Given the description of an element on the screen output the (x, y) to click on. 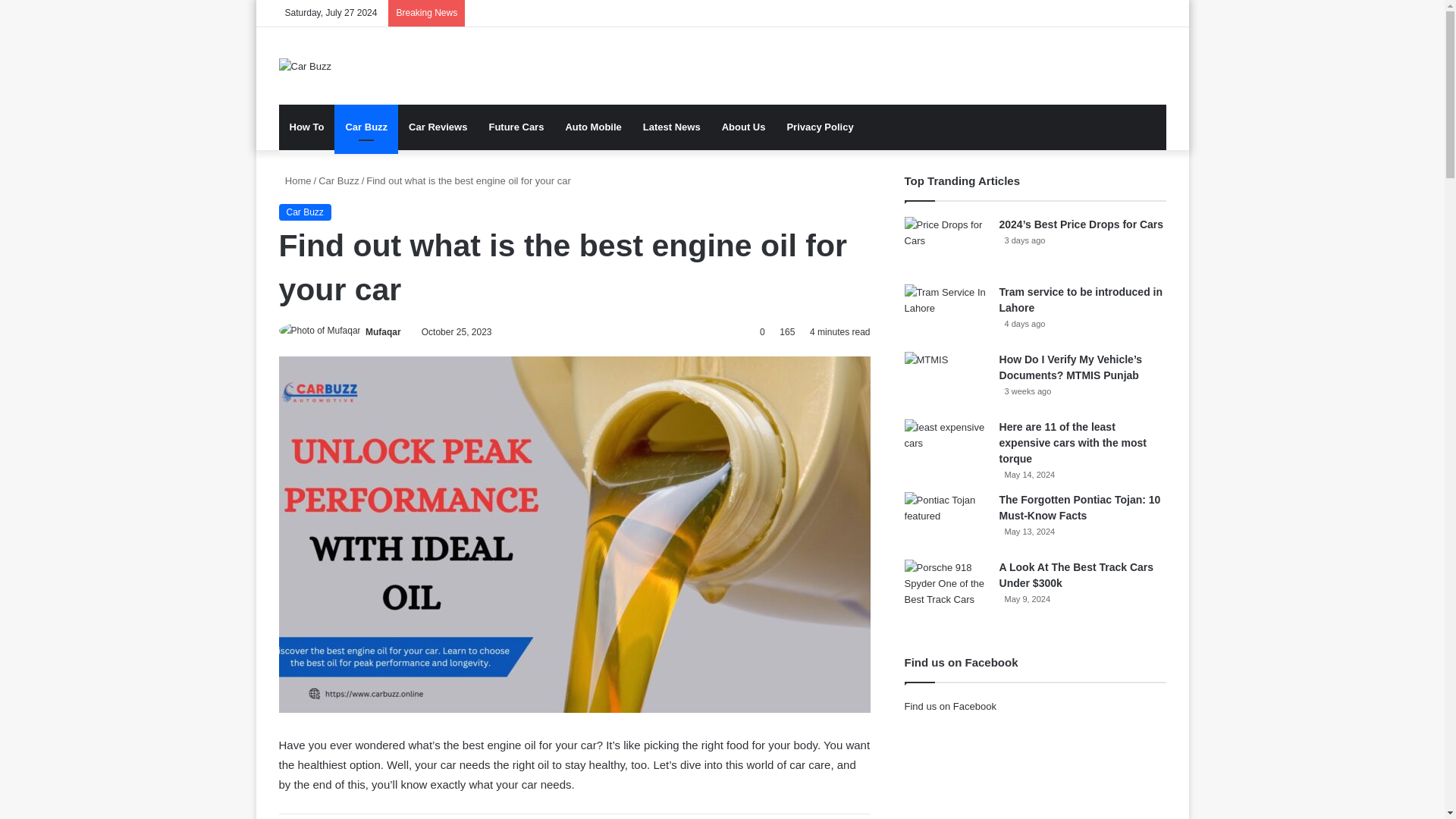
Future Cars (515, 126)
Log In (1109, 13)
Search for (1154, 126)
Car Buzz (305, 65)
How To (306, 126)
Mufaqar (383, 331)
Random Article (1131, 13)
Latest News (671, 126)
Car Buzz (305, 211)
Auto Mobile (592, 126)
Mufaqar (383, 331)
Car Buzz (365, 126)
About Us (743, 126)
Privacy Policy (819, 126)
Car Buzz (338, 180)
